Given the description of an element on the screen output the (x, y) to click on. 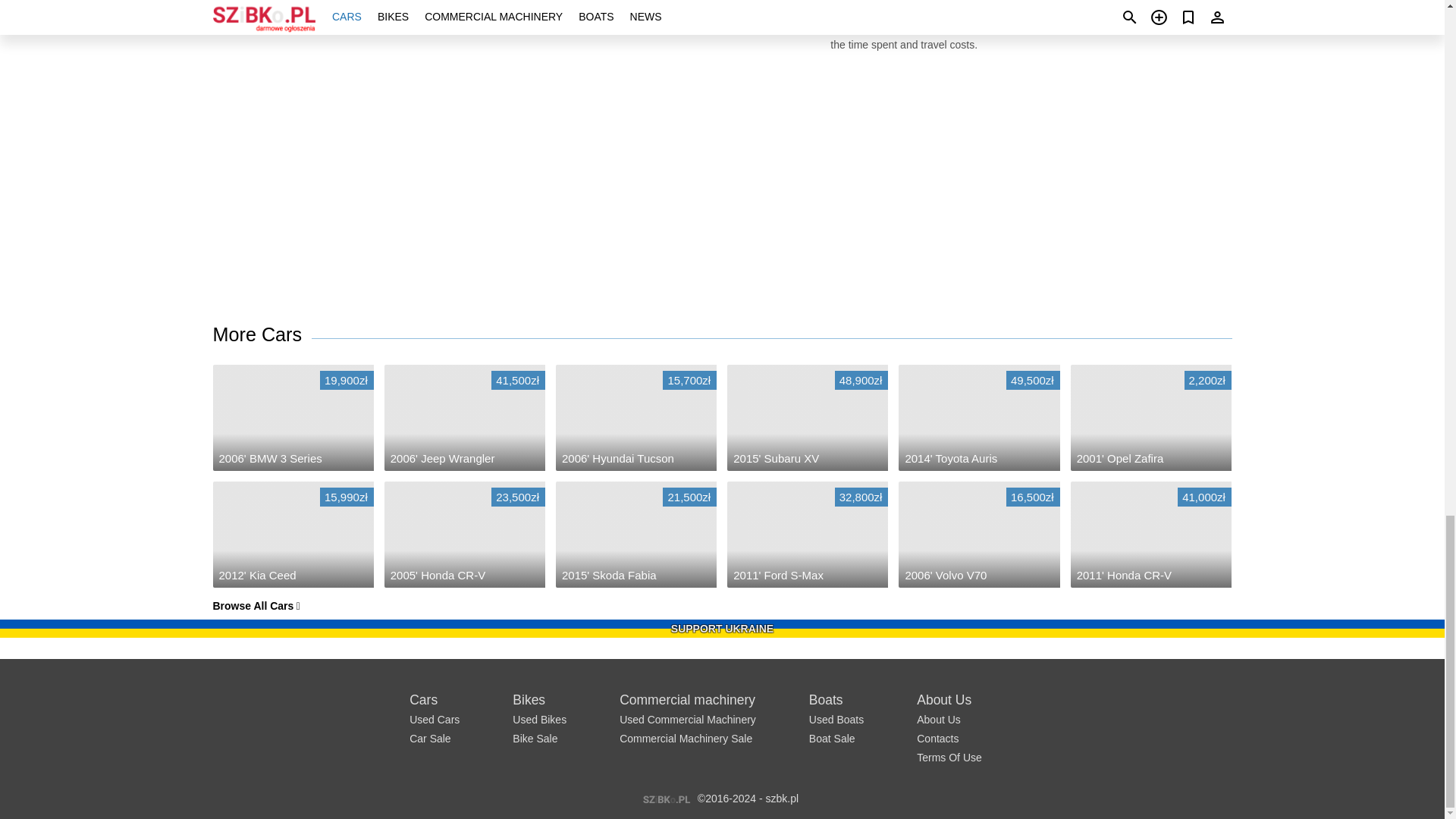
Car Sale (429, 738)
Used Cars (434, 719)
Boat Sale (832, 738)
Commercial Machinery Sale (686, 738)
More Cars (261, 335)
Used Bikes (539, 719)
About Us (938, 719)
Used Boats (836, 719)
Used Commercial Machinery (687, 719)
Contacts (937, 738)
Browse All Cars (255, 605)
szbk.pl - Poland (666, 797)
Bike Sale (534, 738)
